Given the description of an element on the screen output the (x, y) to click on. 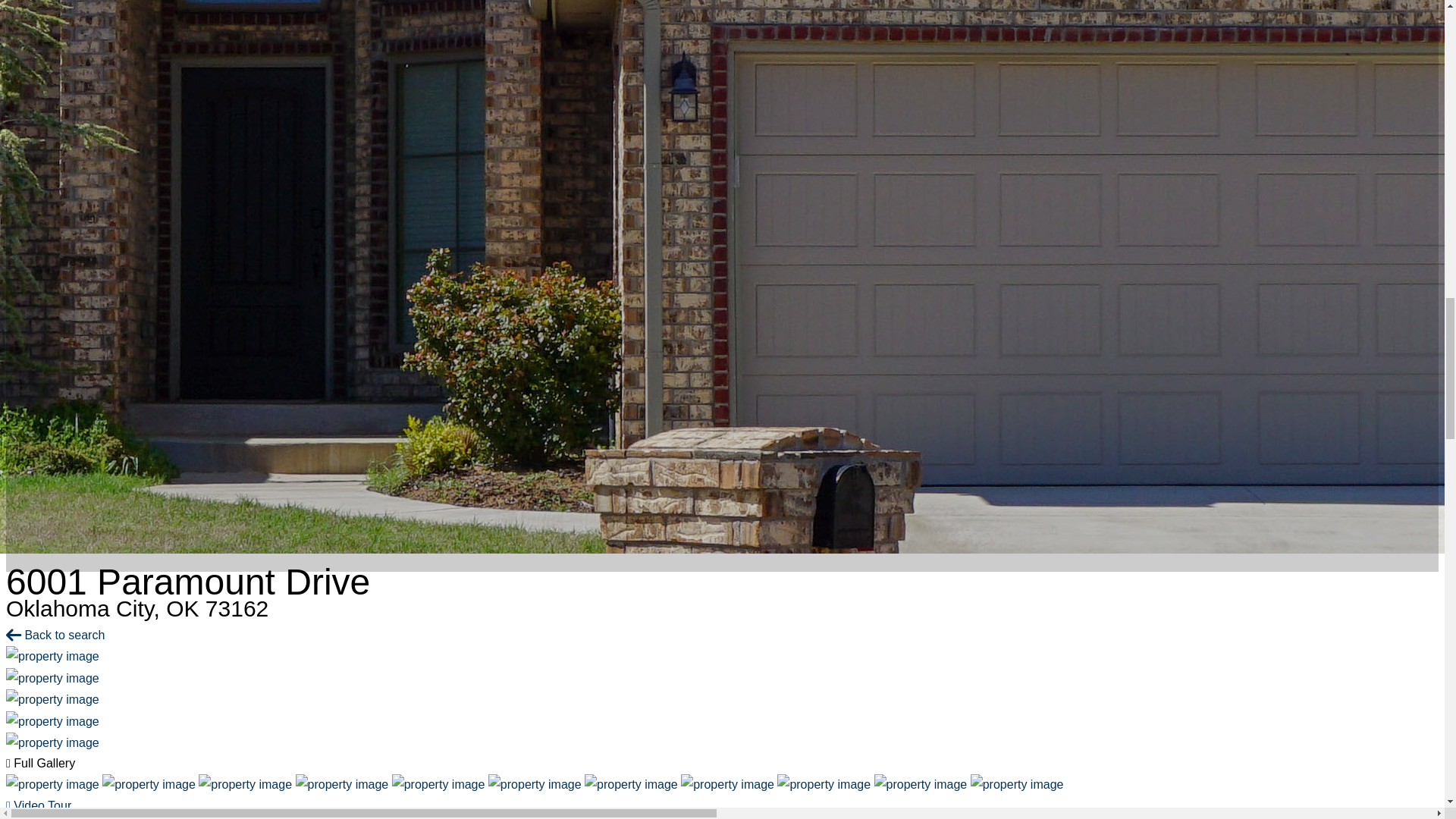
opens in new window (27, 817)
